Given the description of an element on the screen output the (x, y) to click on. 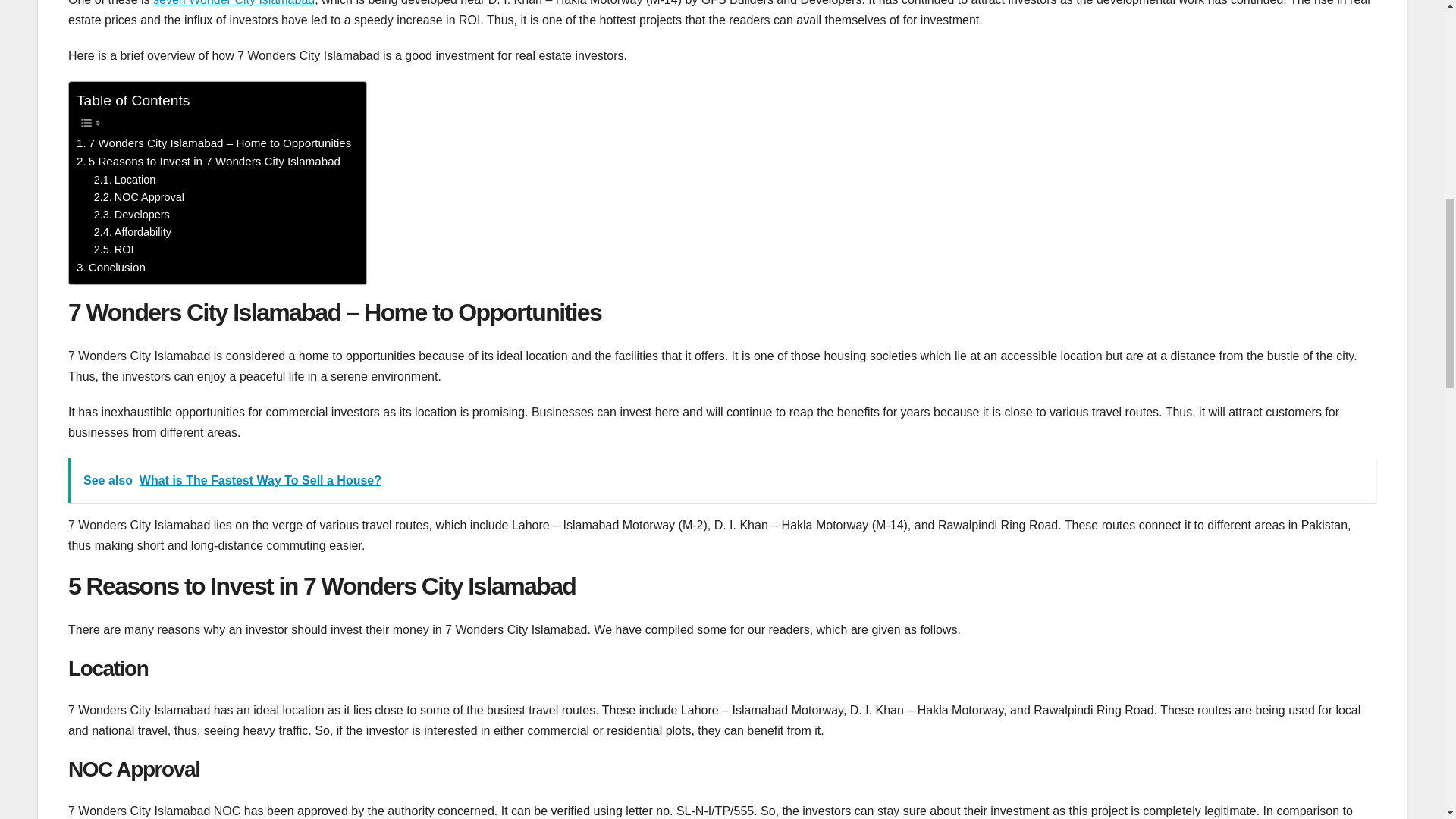
Developers (132, 214)
5 Reasons to Invest in 7 Wonders City Islamabad (208, 161)
See also  What is The Fastest Way To Sell a House? (721, 479)
Conclusion (111, 267)
Affordability (132, 231)
Developers (132, 214)
NOC Approval (139, 197)
NOC Approval (139, 197)
ROI (113, 249)
Location (124, 180)
seven Wonder City Islamabad (233, 2)
Affordability (132, 231)
5 Reasons to Invest in 7 Wonders City Islamabad (208, 161)
Location (124, 180)
